Given the description of an element on the screen output the (x, y) to click on. 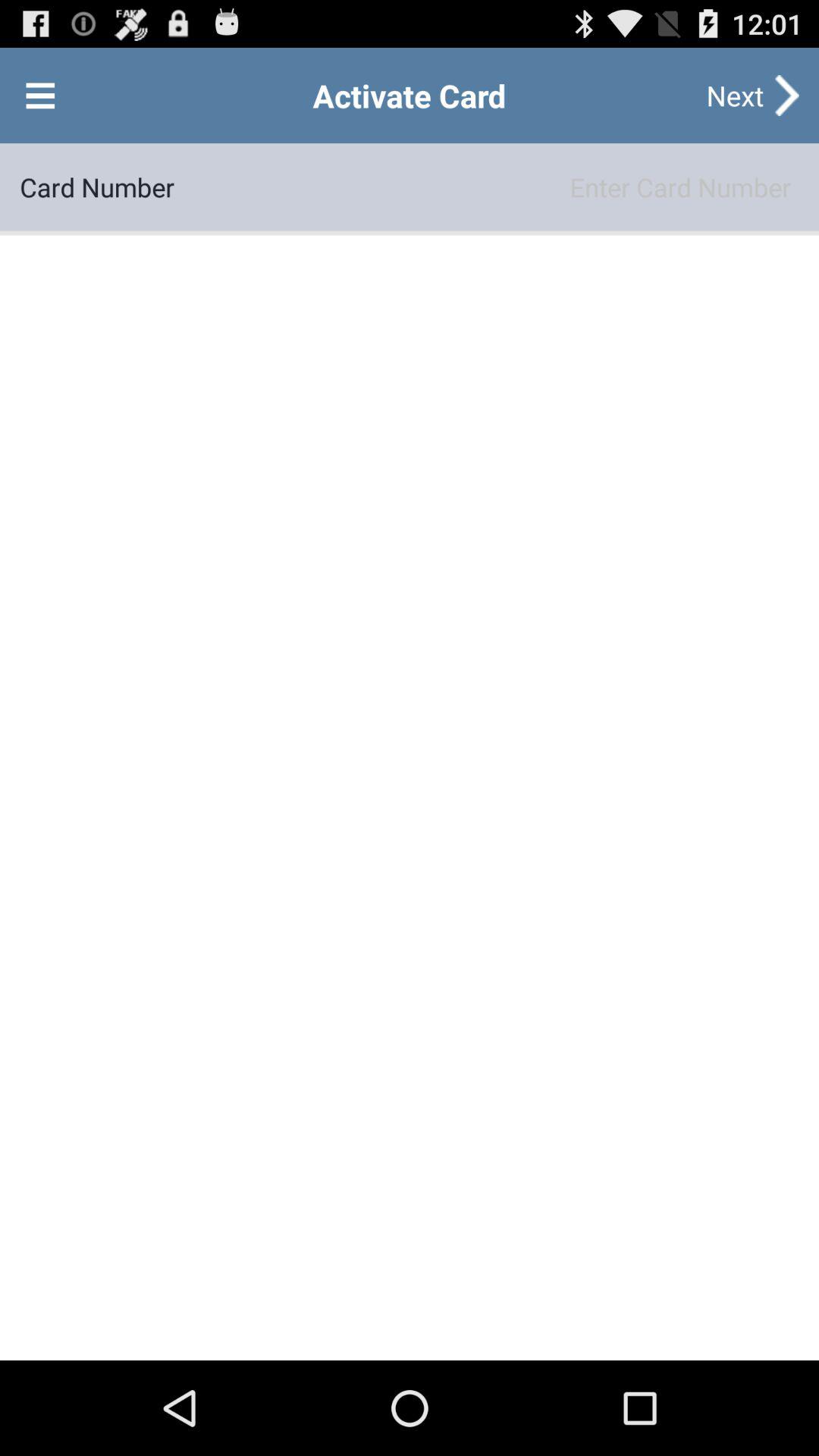
expand contents (39, 95)
